Given the description of an element on the screen output the (x, y) to click on. 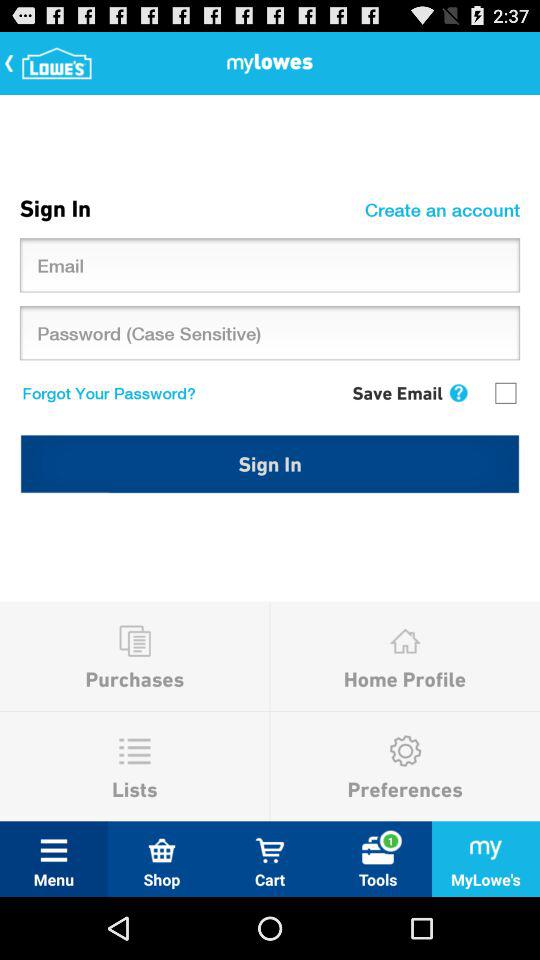
click icon to the right of save email (458, 392)
